Given the description of an element on the screen output the (x, y) to click on. 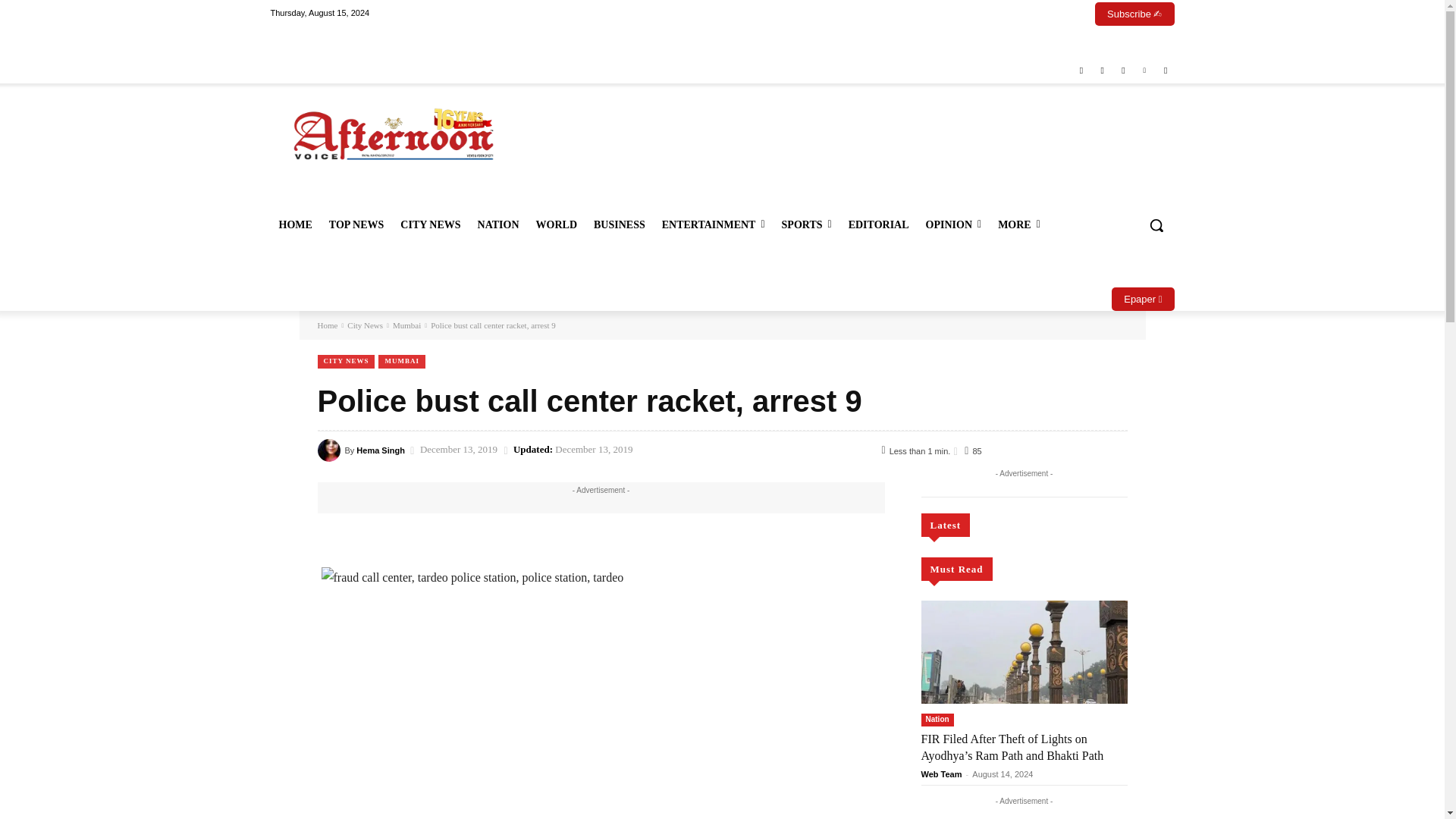
Youtube (1165, 70)
Twitter (1123, 70)
Facebook (1081, 70)
Vimeo (1144, 70)
Instagram (1101, 70)
